Given the description of an element on the screen output the (x, y) to click on. 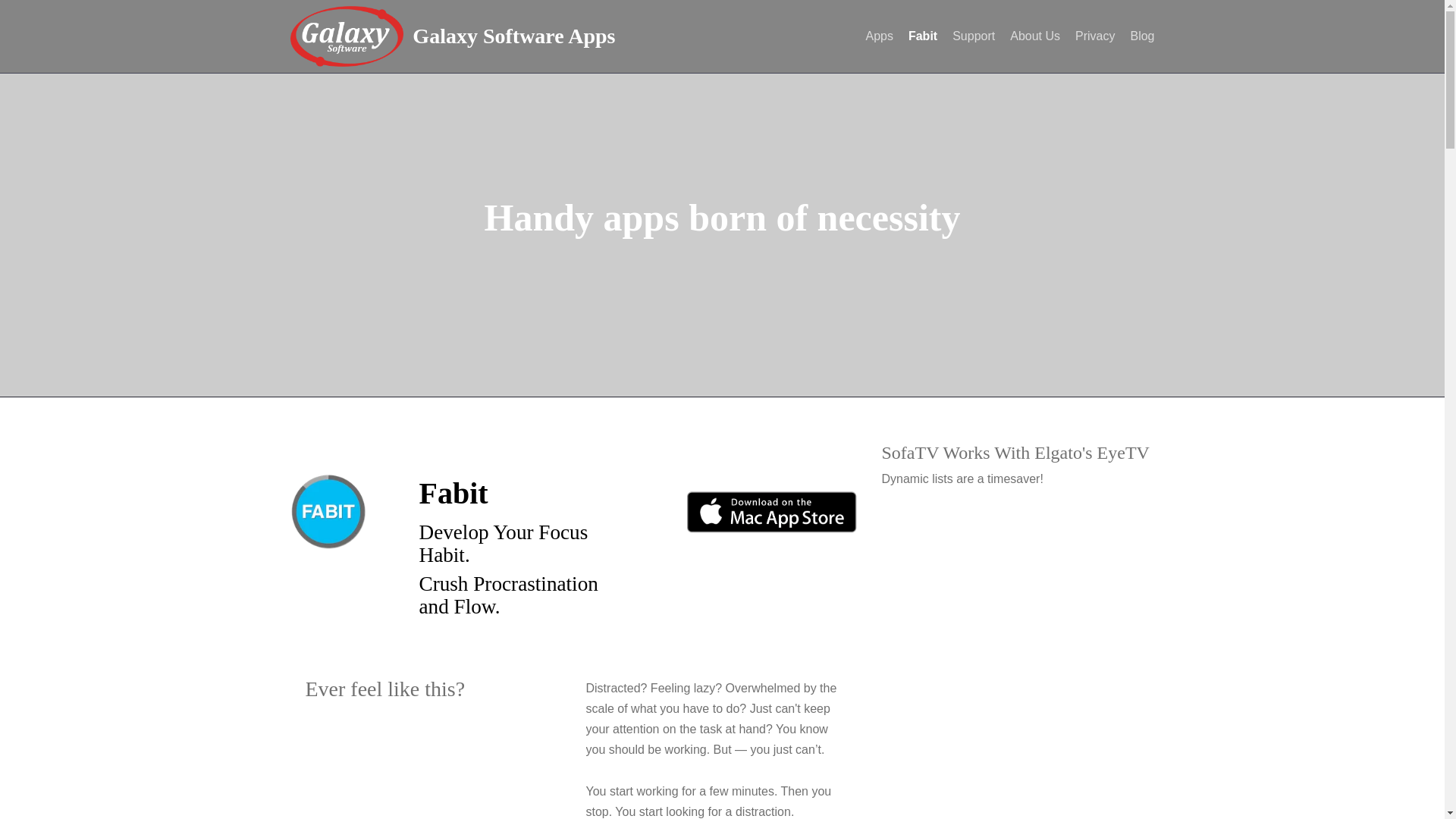
Blog (1141, 35)
Support (973, 35)
Apps (878, 35)
Galaxy Software Apps (513, 38)
Fabit (922, 35)
About Us (1034, 35)
Privacy (1095, 35)
